Given the description of an element on the screen output the (x, y) to click on. 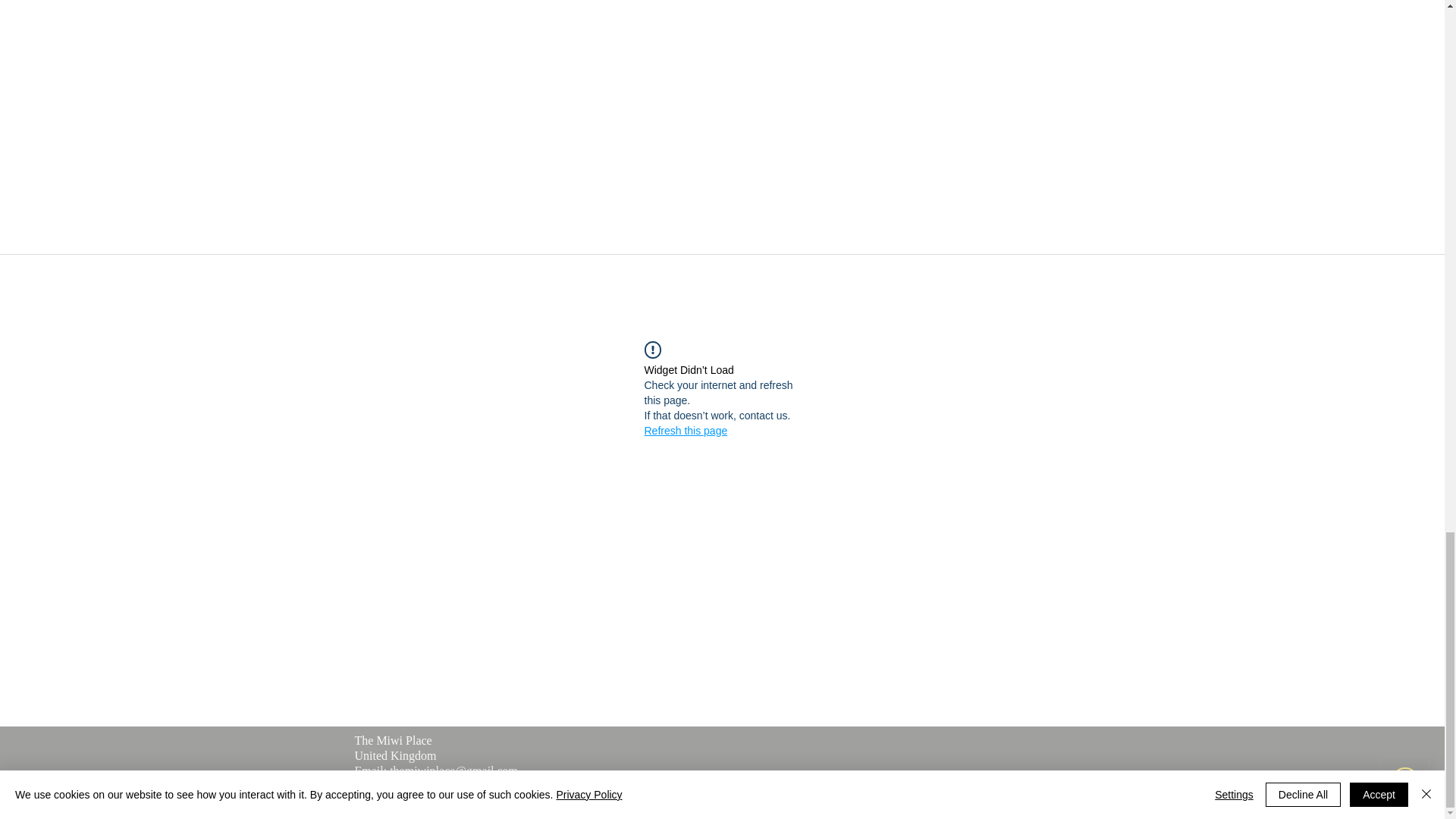
Refresh this page (686, 430)
